Given the description of an element on the screen output the (x, y) to click on. 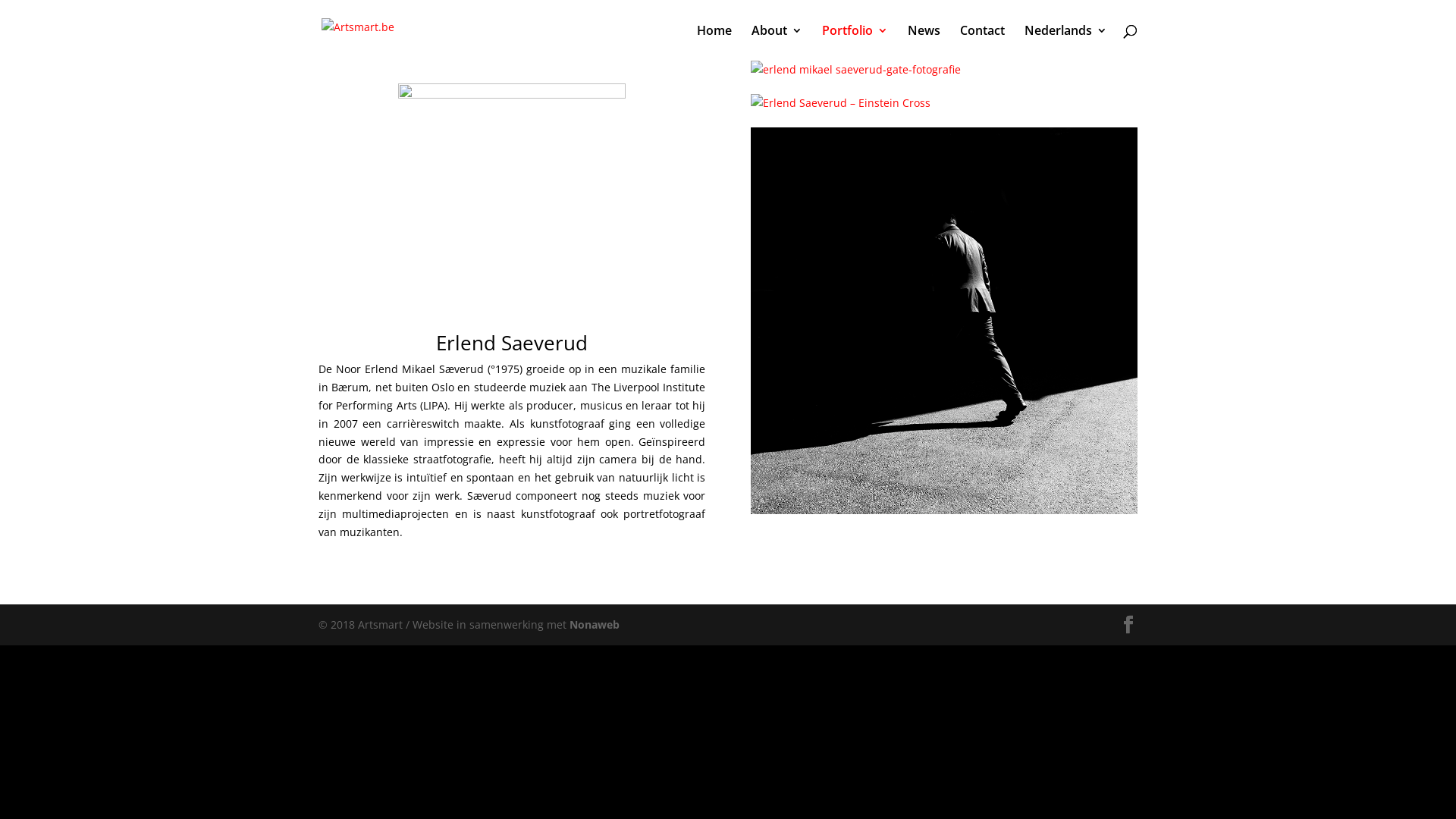
Nederlands Element type: text (1065, 42)
Contact Element type: text (982, 42)
News Element type: text (923, 42)
erlend mikael saeverud-gate-fotografie Element type: hover (943, 77)
About Element type: text (776, 42)
Nonaweb Element type: text (594, 624)
Portfolio Element type: text (855, 42)
Home Element type: text (713, 42)
